Given the description of an element on the screen output the (x, y) to click on. 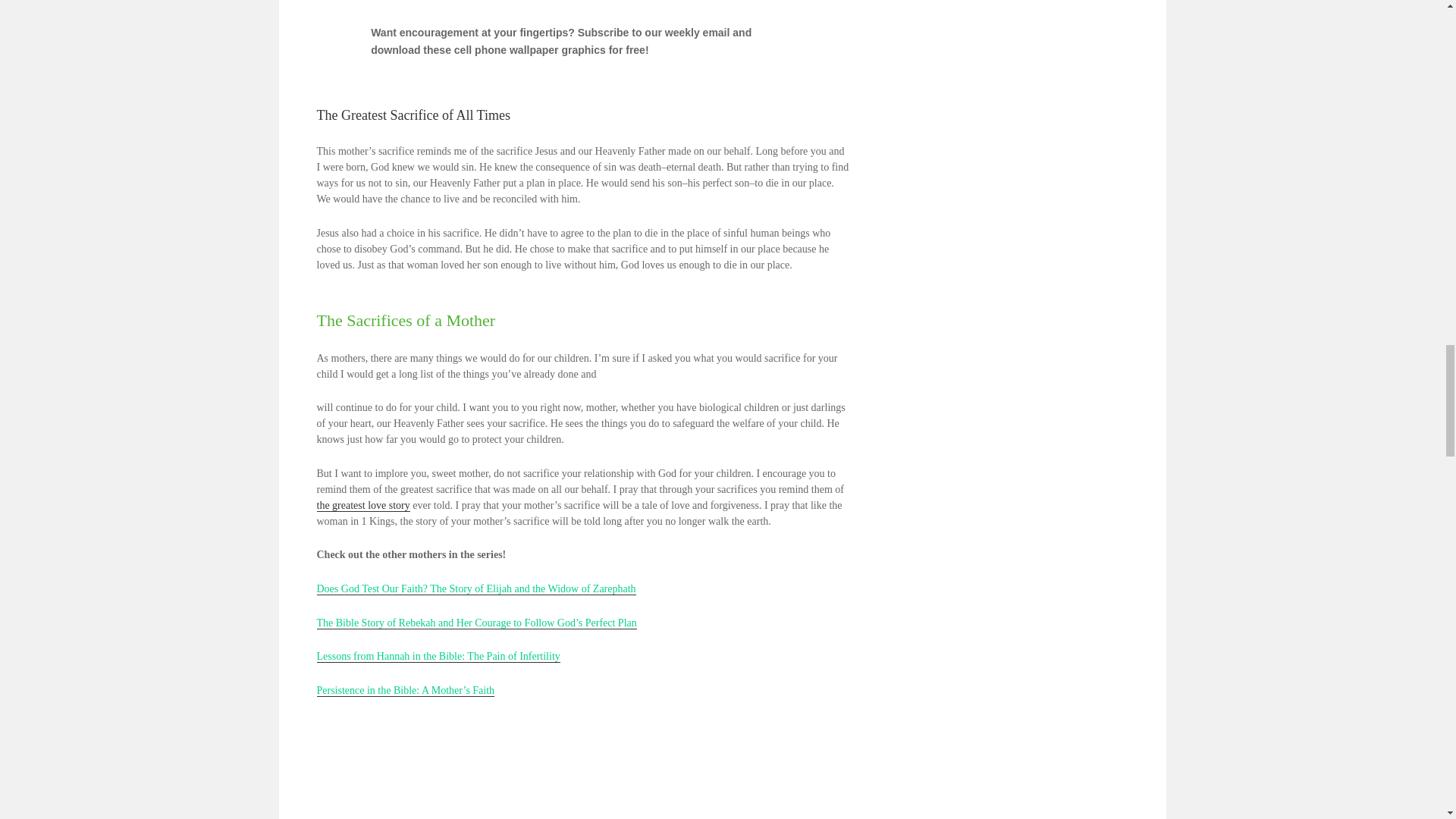
the greatest love story (363, 505)
Lessons from Hannah in the Bible: The Pain of Infertility (438, 656)
